Given the description of an element on the screen output the (x, y) to click on. 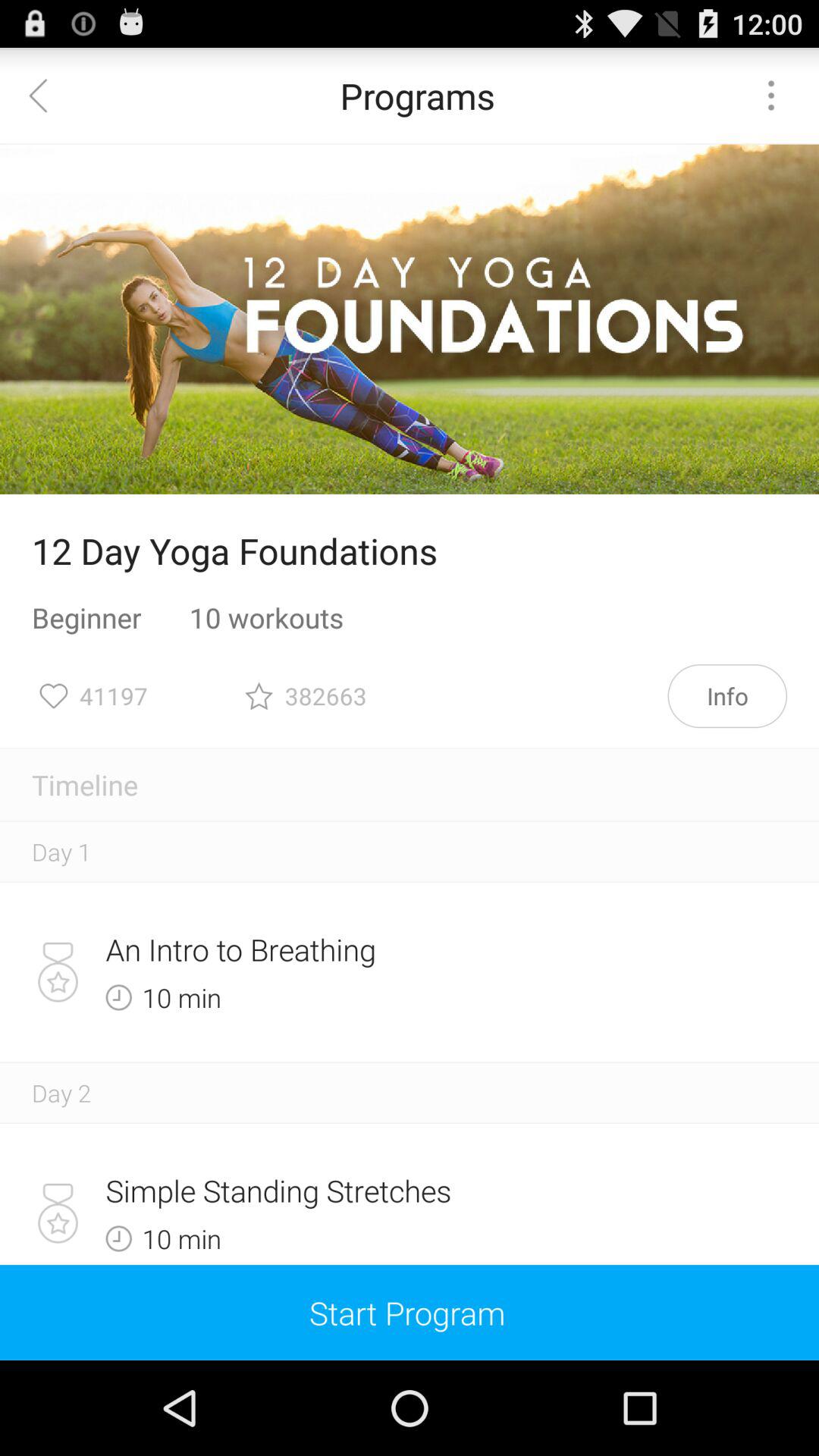
turn off item above 12 day yoga item (409, 319)
